Given the description of an element on the screen output the (x, y) to click on. 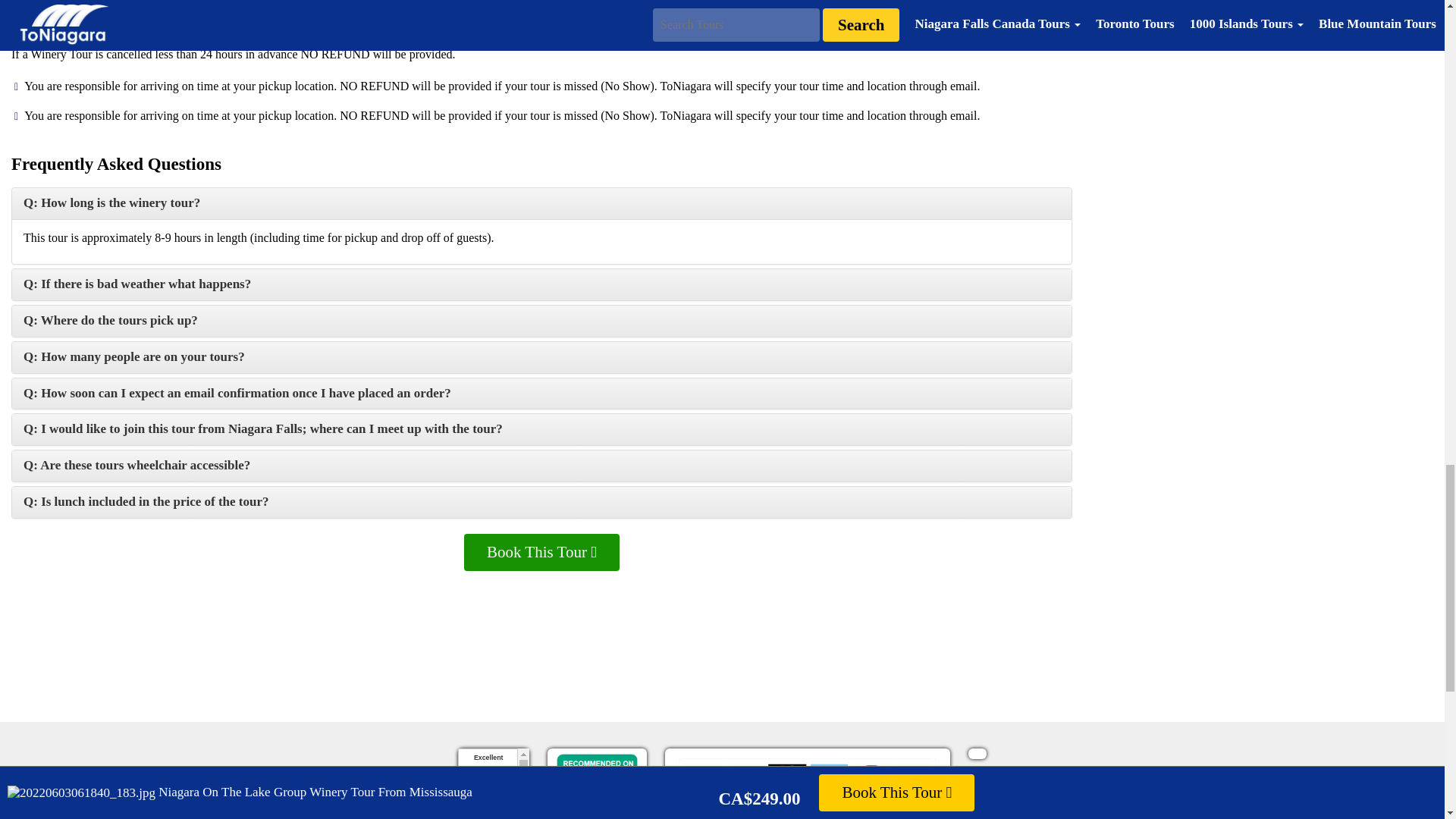
Q: If there is bad weather what happens? (136, 283)
Q: Is lunch included in the price of the tour? (146, 501)
Q: Where do the tours pick up? (110, 319)
Q: Are these tours wheelchair accessible? (136, 464)
Book This Tour (542, 551)
Q: How many people are on your tours? (133, 356)
Q: How long is the winery tour? (111, 202)
